Given the description of an element on the screen output the (x, y) to click on. 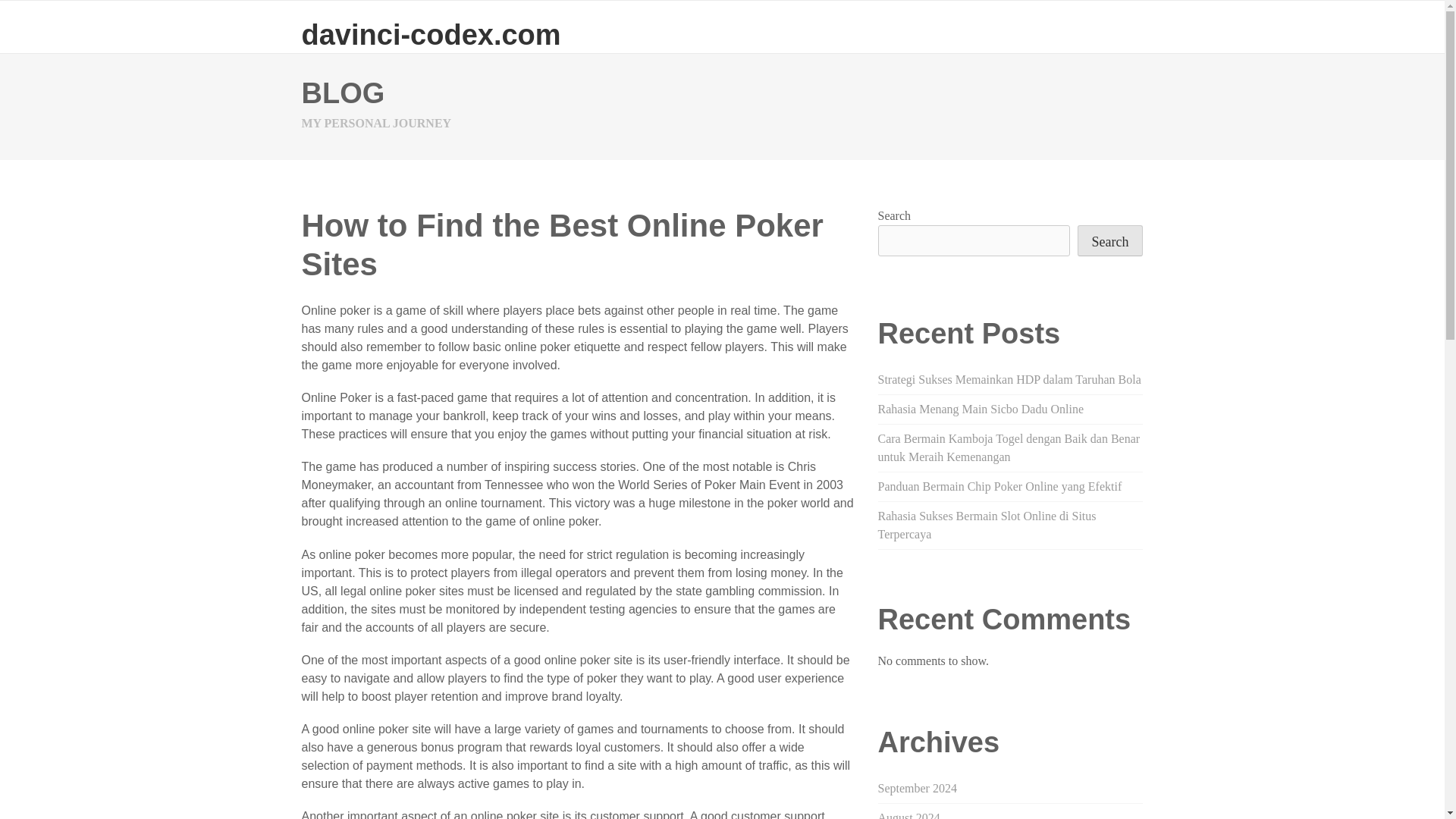
September 2024 (916, 788)
Panduan Bermain Chip Poker Online yang Efektif (999, 486)
Rahasia Sukses Bermain Slot Online di Situs Terpercaya (986, 524)
davinci-codex.com (430, 34)
August 2024 (908, 815)
Strategi Sukses Memainkan HDP dalam Taruhan Bola (1009, 379)
Search (1109, 240)
Rahasia Menang Main Sicbo Dadu Online (980, 408)
